Given the description of an element on the screen output the (x, y) to click on. 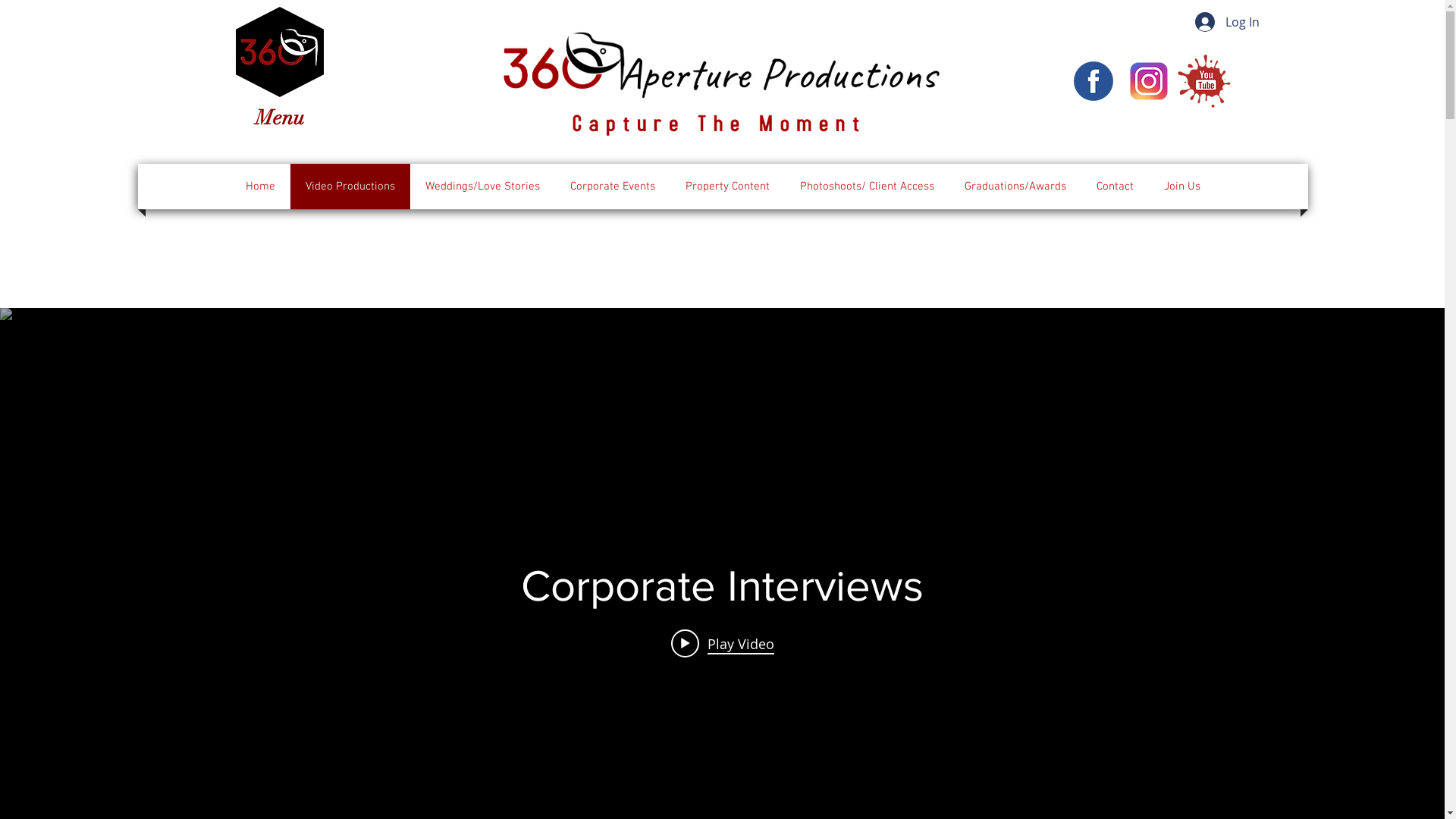
Property Content Element type: text (726, 186)
Contact Element type: text (1114, 186)
Log In Element type: text (1227, 21)
Weddings/Love Stories Element type: text (482, 186)
Corporate Events Element type: text (611, 186)
Graduations/Awards Element type: text (1014, 186)
Video Productions Element type: text (350, 186)
Join Us Element type: text (1181, 186)
Home Element type: text (259, 186)
Photoshoots/ Client Access Element type: text (866, 186)
Play Video Element type: text (721, 642)
